Given the description of an element on the screen output the (x, y) to click on. 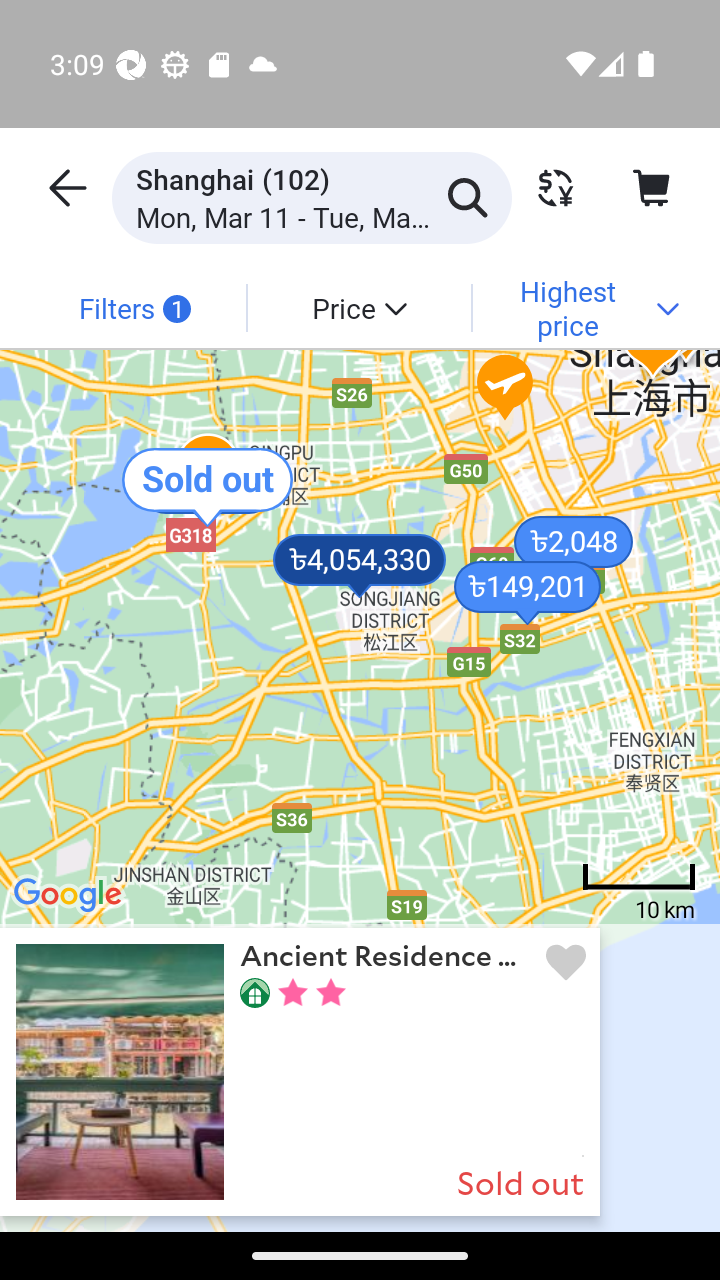
Filters 1 (134, 307)
Price (358, 307)
Highest price (584, 307)
